Given the description of an element on the screen output the (x, y) to click on. 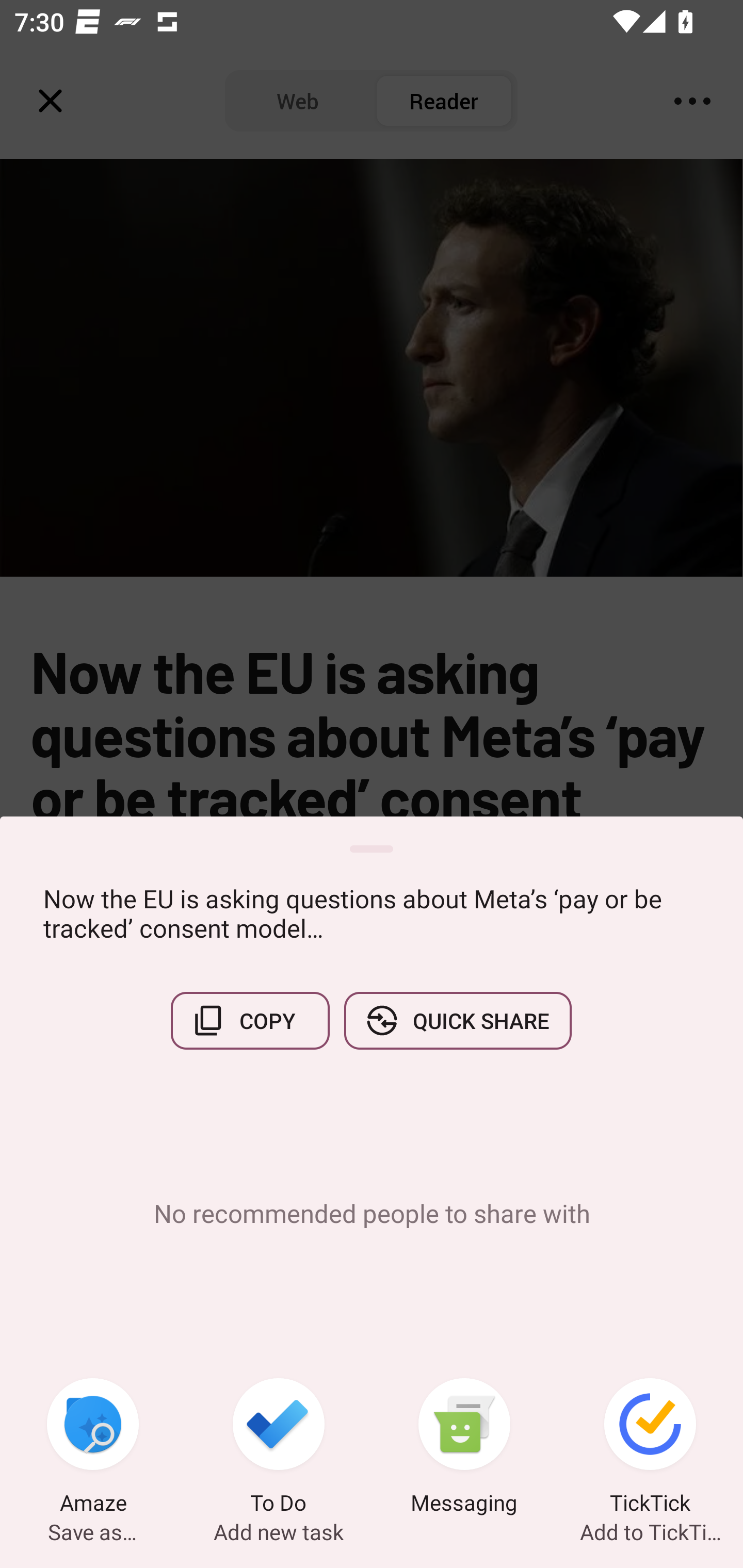
COPY (249, 1020)
QUICK SHARE (457, 1020)
Amaze Save as… (92, 1448)
To Do Add new task (278, 1448)
Messaging (464, 1448)
TickTick Add to TickTick (650, 1448)
